Given the description of an element on the screen output the (x, y) to click on. 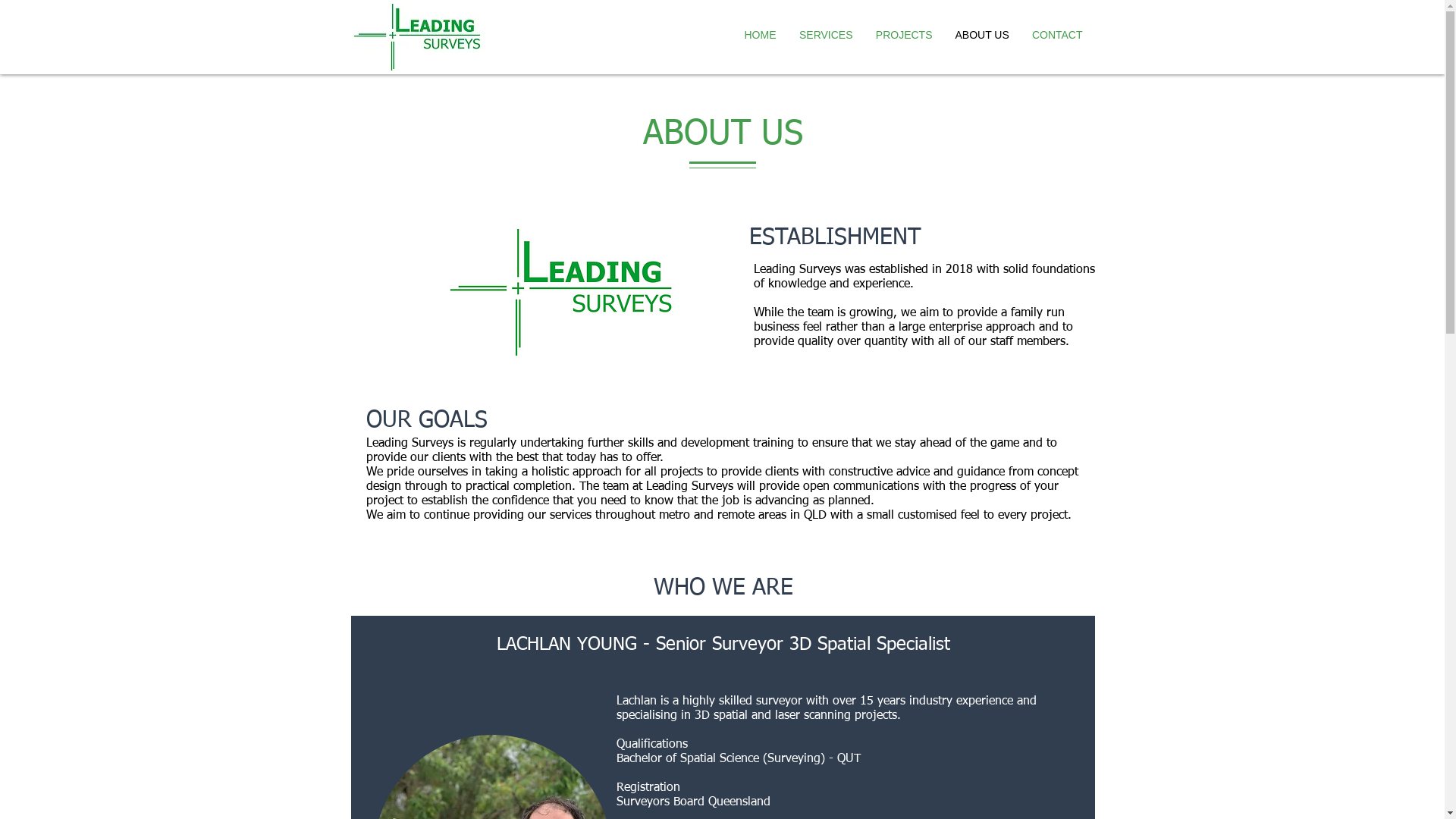
SERVICES Element type: text (825, 34)
ABOUT US Element type: text (981, 34)
PROJECTS Element type: text (904, 34)
HOME Element type: text (759, 34)
CONTACT Element type: text (1057, 34)
